Given the description of an element on the screen output the (x, y) to click on. 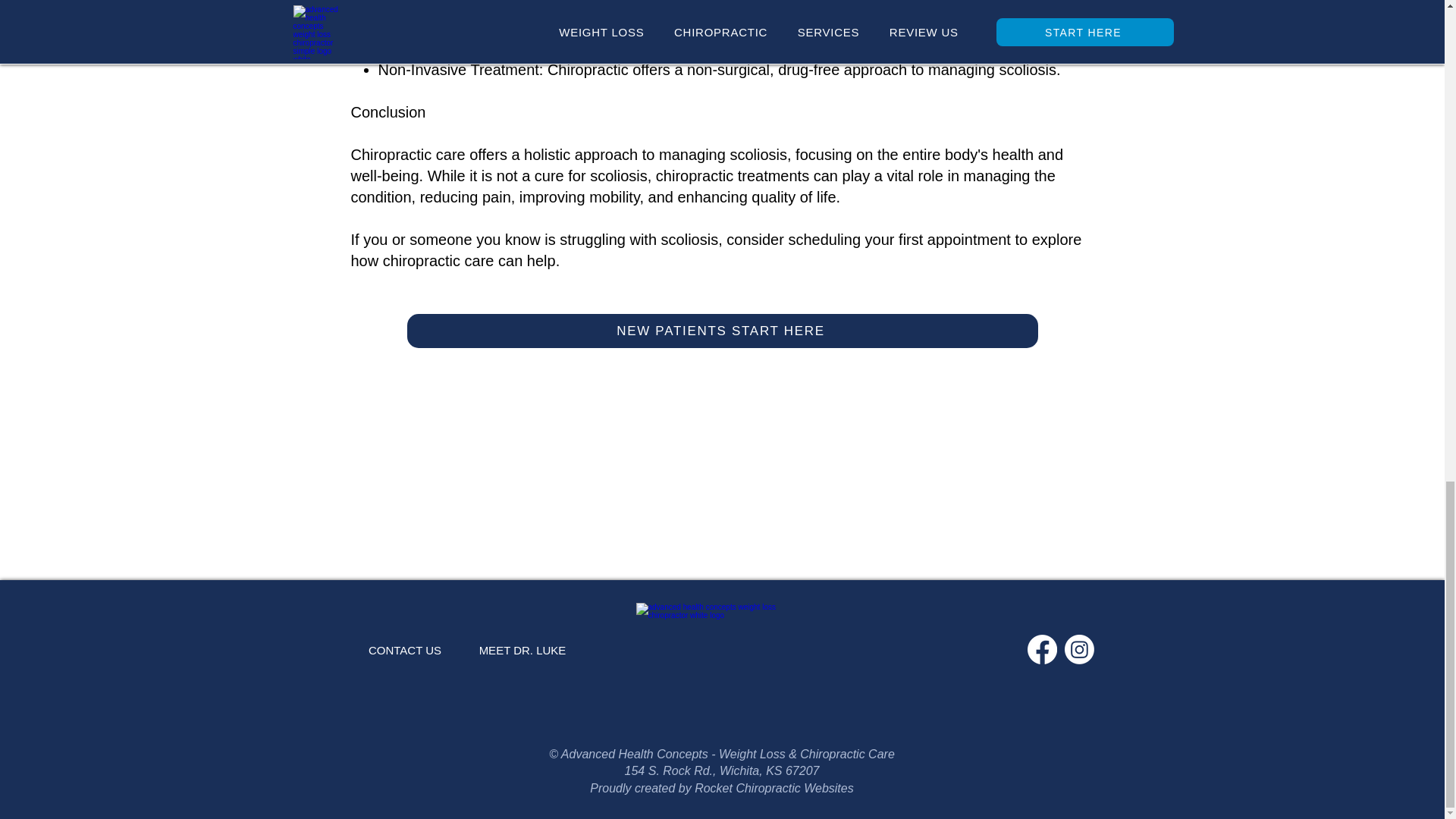
MEET DR. LUKE (523, 649)
NEW PATIENTS START HERE (721, 330)
Rocket Chiropractic Websites (773, 788)
CONTACT US (404, 650)
